Given the description of an element on the screen output the (x, y) to click on. 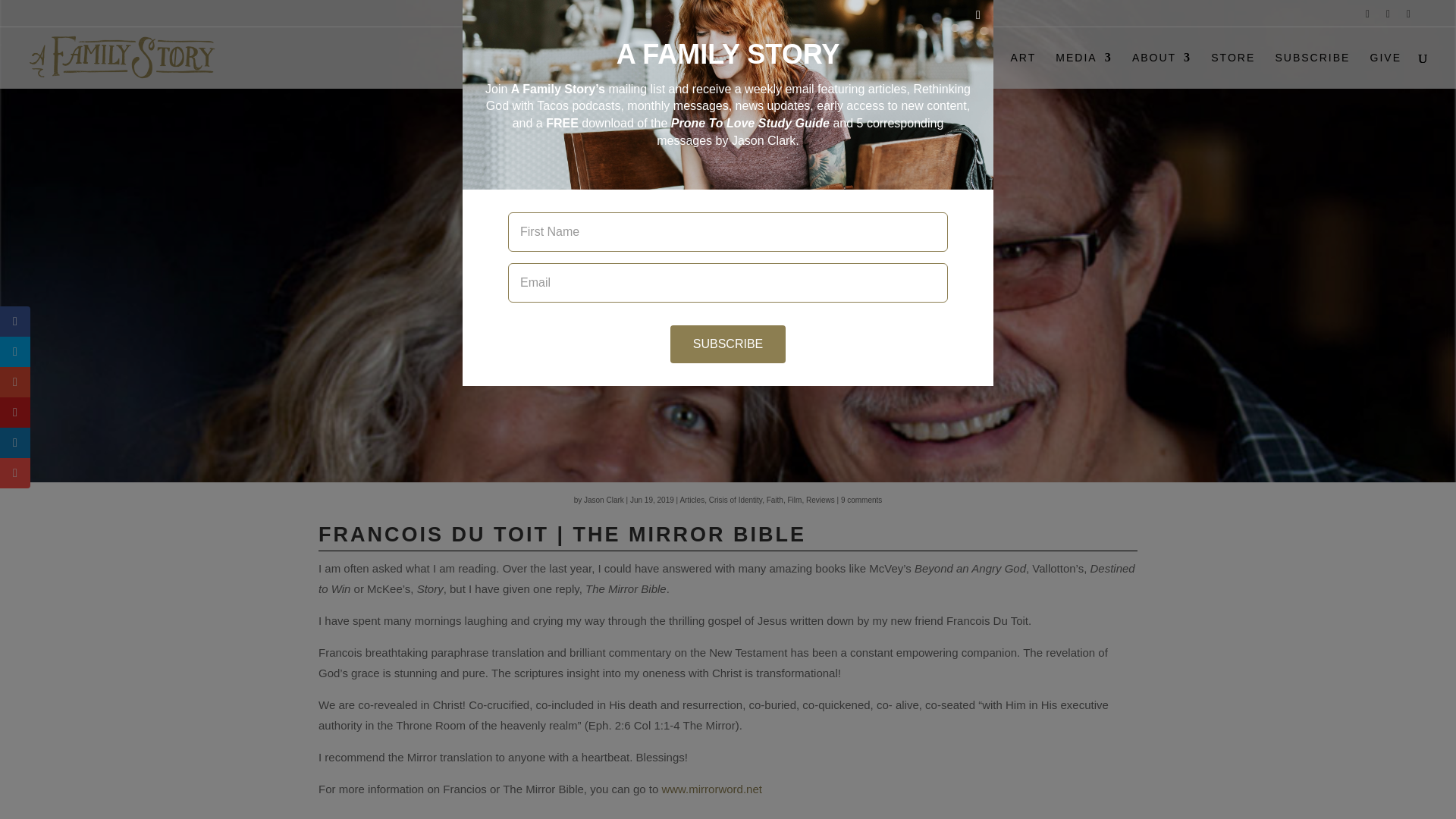
FAITH (923, 70)
ABOUT (1161, 70)
Posts by Jason Clark (603, 500)
MEDIA (1083, 70)
SUBSCRIBE (1312, 70)
Jason Clark (603, 500)
STORE (1233, 70)
